Given the description of an element on the screen output the (x, y) to click on. 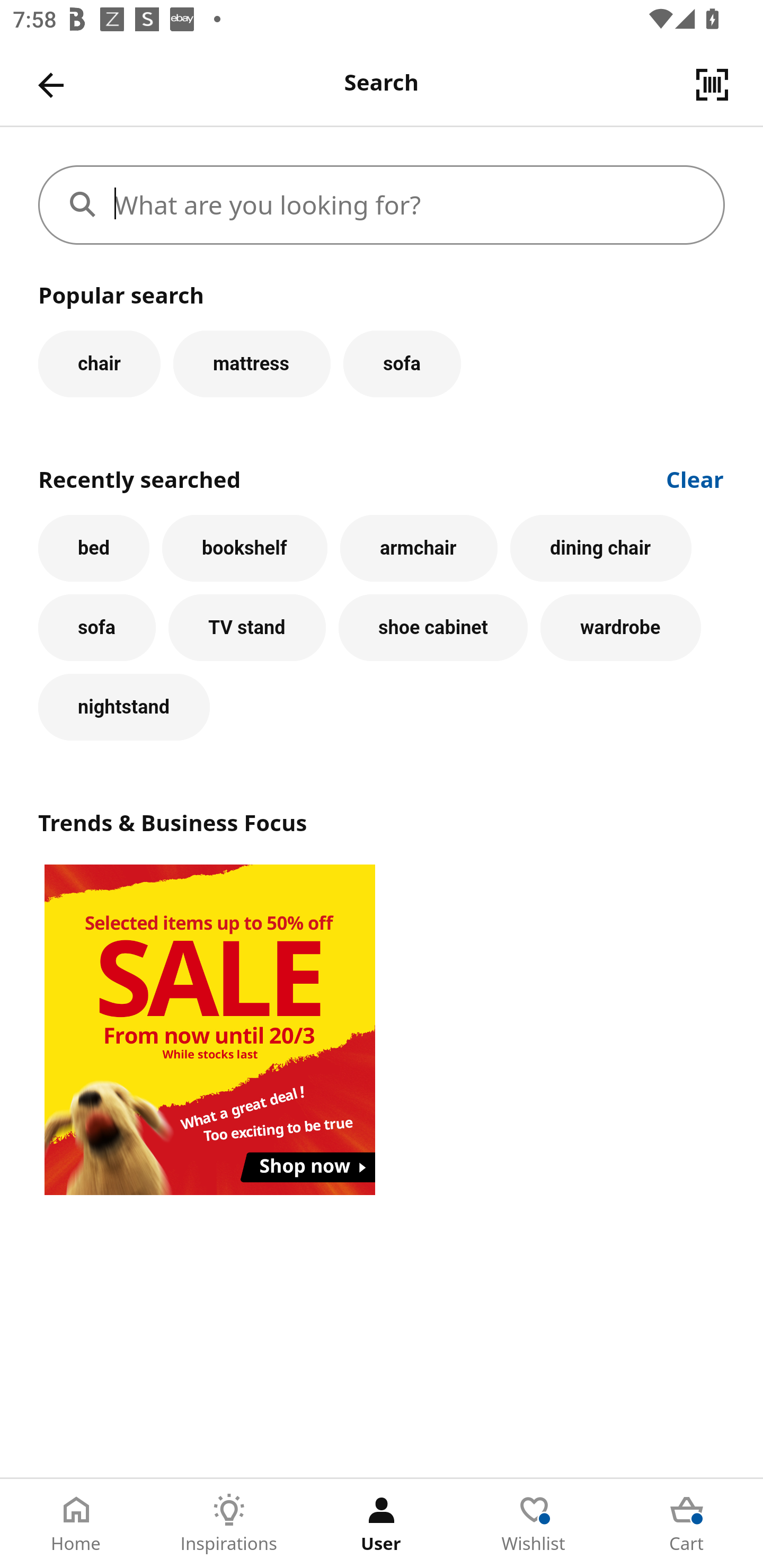
chair (99, 363)
mattress (251, 363)
sofa (401, 363)
Clear (695, 477)
bed (93, 547)
bookshelf (244, 547)
armchair (418, 547)
dining chair (600, 547)
sofa (96, 627)
TV stand (246, 627)
shoe cabinet (432, 627)
wardrobe (620, 627)
nightstand (123, 707)
Home
Tab 1 of 5 (76, 1522)
Inspirations
Tab 2 of 5 (228, 1522)
User
Tab 3 of 5 (381, 1522)
Wishlist
Tab 4 of 5 (533, 1522)
Cart
Tab 5 of 5 (686, 1522)
